Given the description of an element on the screen output the (x, y) to click on. 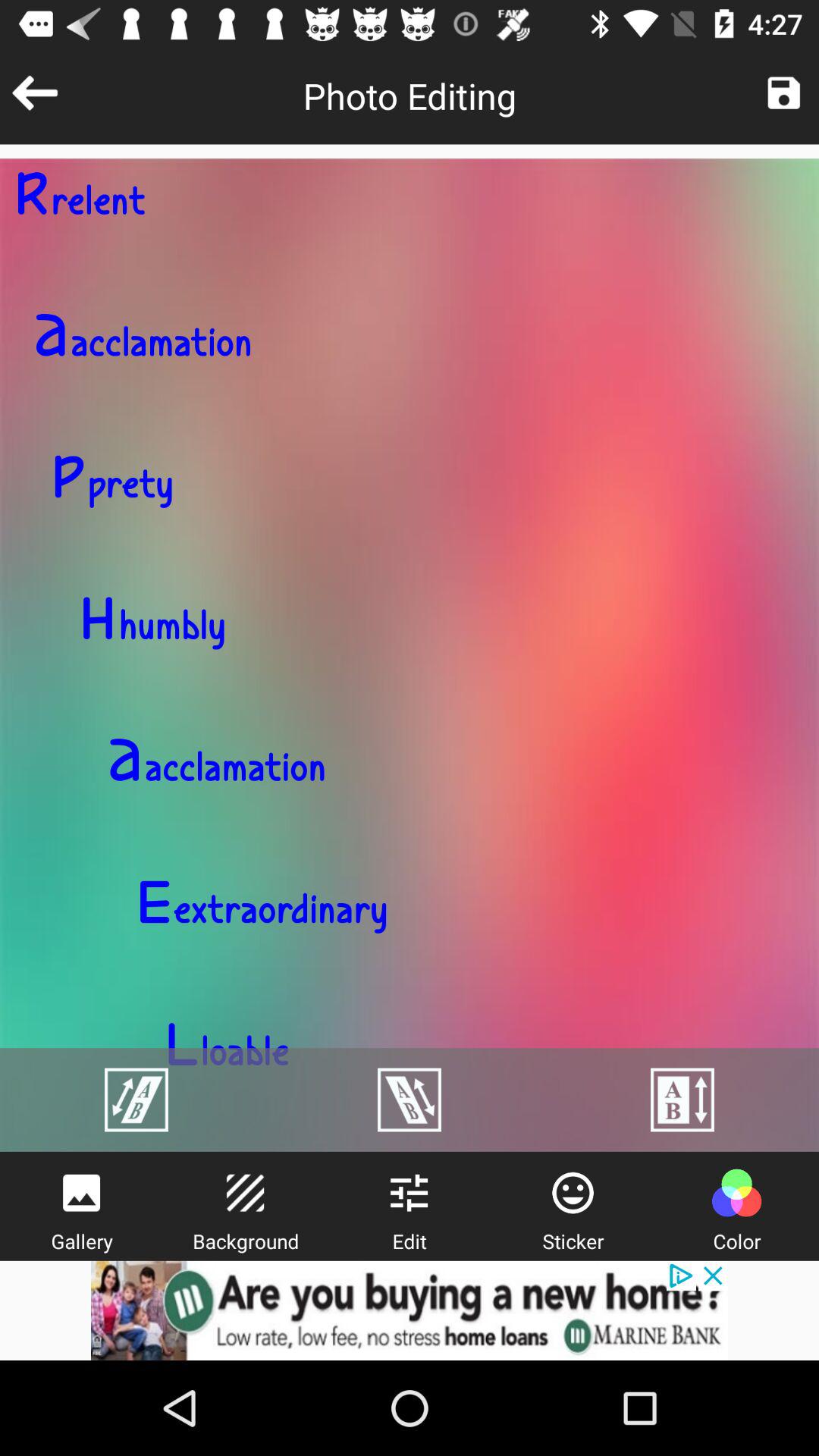
edit image (409, 1192)
